Given the description of an element on the screen output the (x, y) to click on. 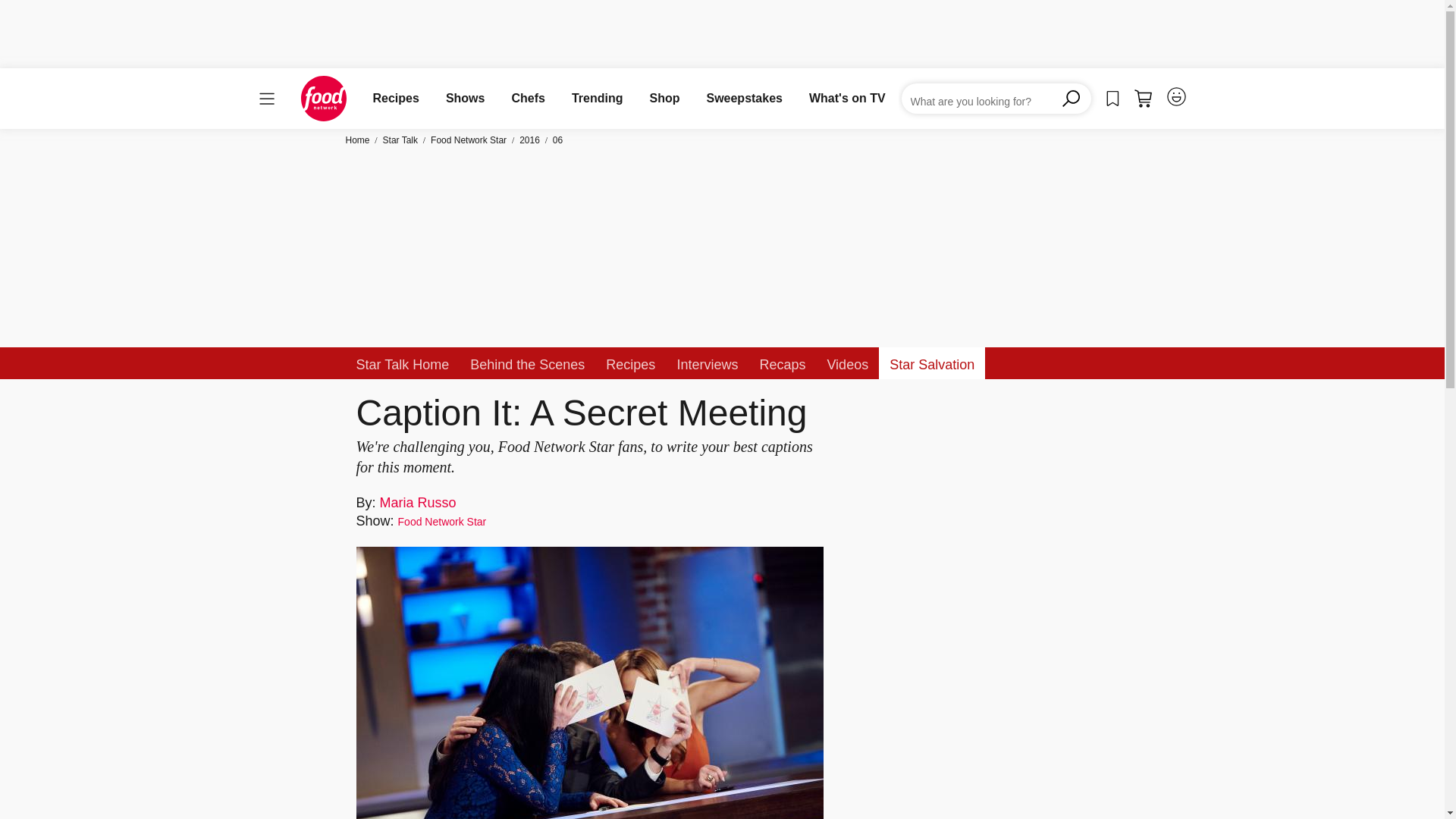
Recipes (395, 97)
Shows (464, 97)
home (322, 98)
